Given the description of an element on the screen output the (x, y) to click on. 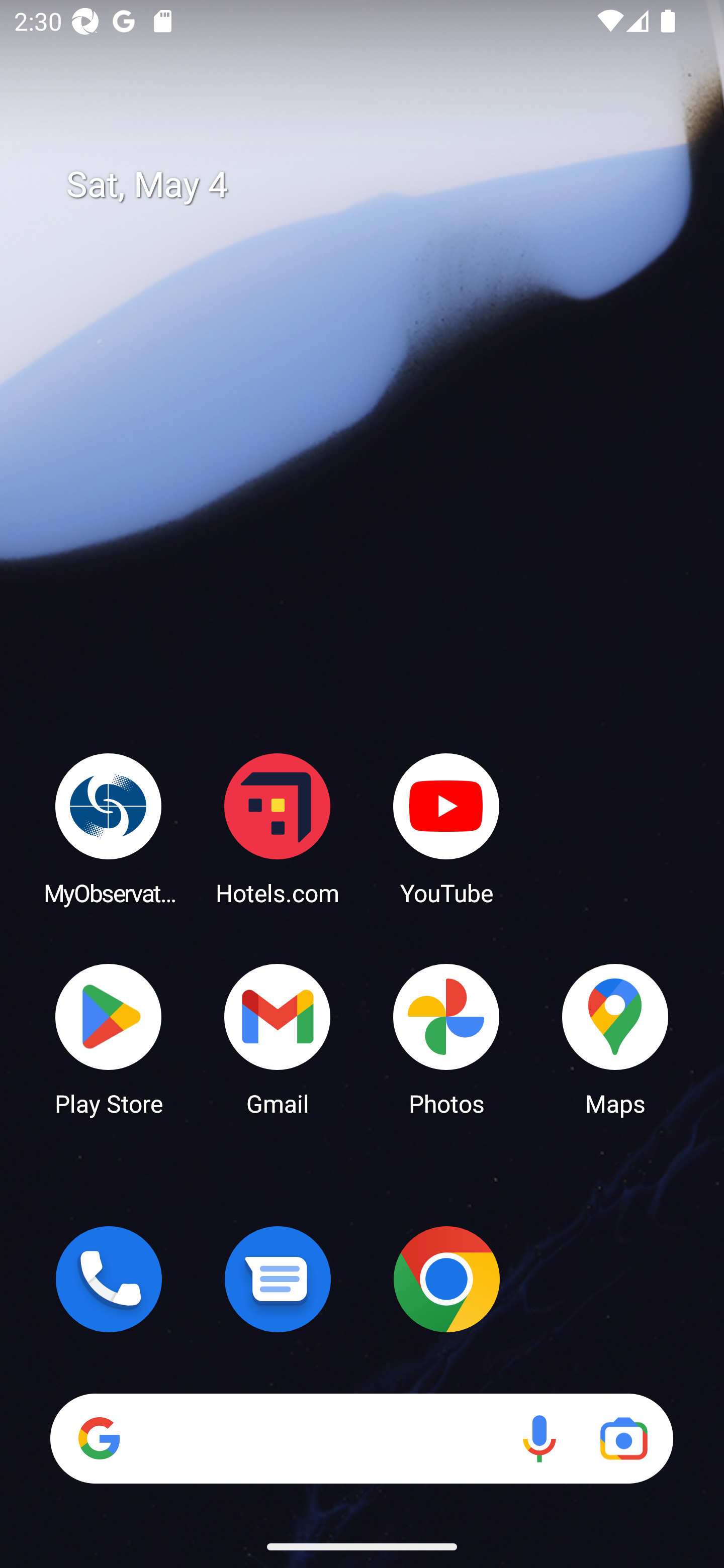
Sat, May 4 (375, 184)
MyObservatory (108, 828)
Hotels.com (277, 828)
YouTube (445, 828)
Play Store (108, 1038)
Gmail (277, 1038)
Photos (445, 1038)
Maps (615, 1038)
Phone (108, 1279)
Messages (277, 1279)
Chrome (446, 1279)
Search Voice search Google Lens (361, 1438)
Voice search (539, 1438)
Google Lens (623, 1438)
